Given the description of an element on the screen output the (x, y) to click on. 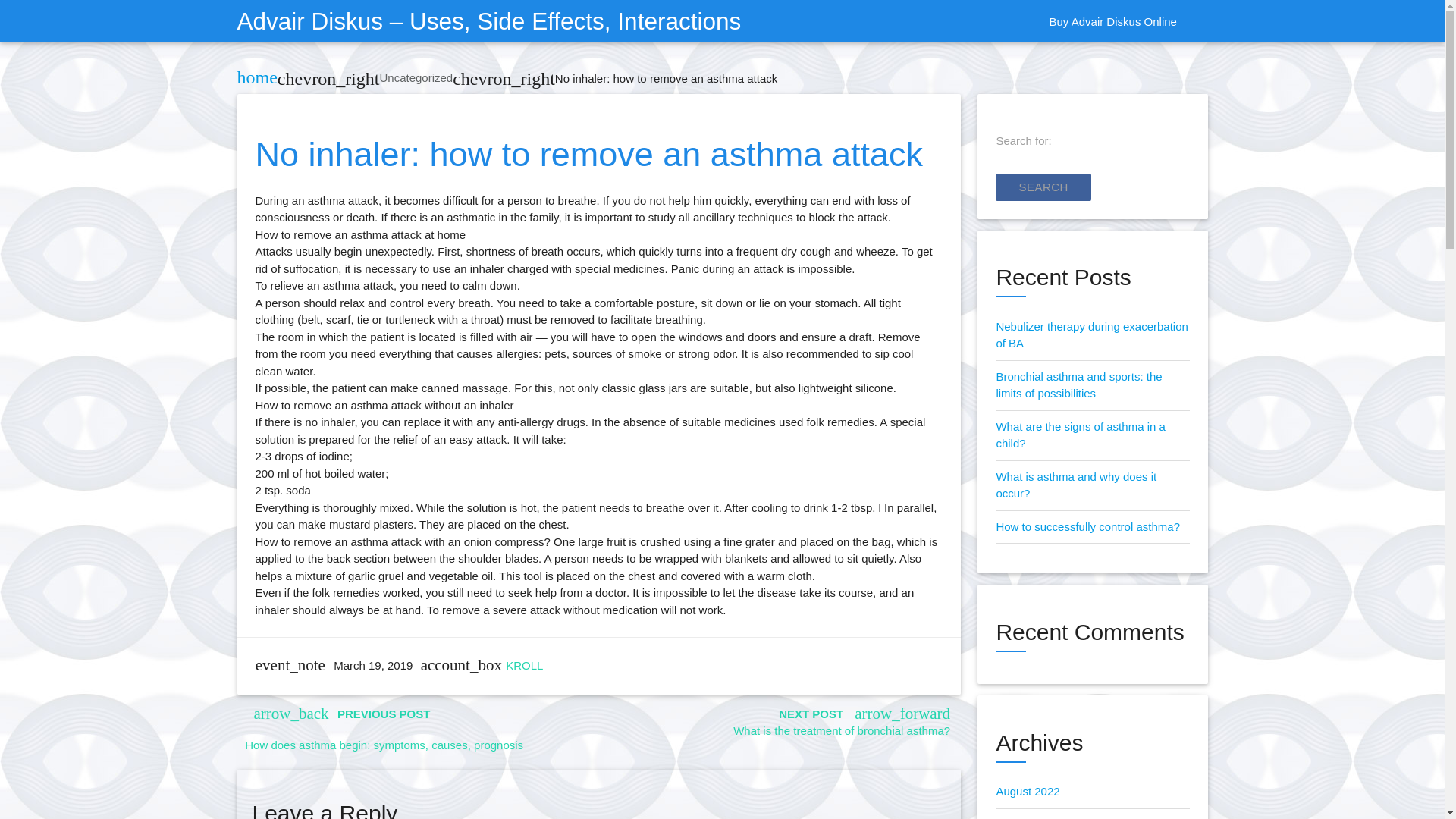
KROLL (524, 665)
SEARCH (1042, 186)
How to successfully control asthma? (1087, 526)
Uncategorized (415, 77)
Bronchial asthma and sports: the limits of possibilities (1078, 385)
Uncategorized (415, 77)
July 2022 (1019, 818)
Buy Advair Diskus Online (1112, 21)
August 2022 (1027, 790)
What are the signs of asthma in a child? (1079, 435)
No inhaler: how to remove an asthma attack (665, 78)
Nebulizer therapy during exacerbation of BA (1091, 335)
What is asthma and why does it occur? (1075, 485)
